Given the description of an element on the screen output the (x, y) to click on. 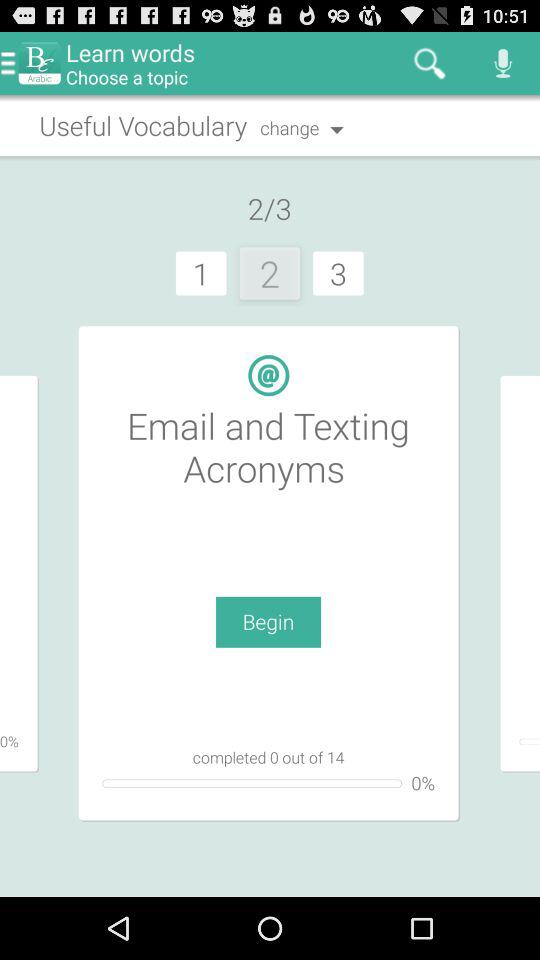
click on 3 (338, 273)
click on the number 2 (269, 273)
click on the icon which is at top right corner of the page (503, 63)
